Given the description of an element on the screen output the (x, y) to click on. 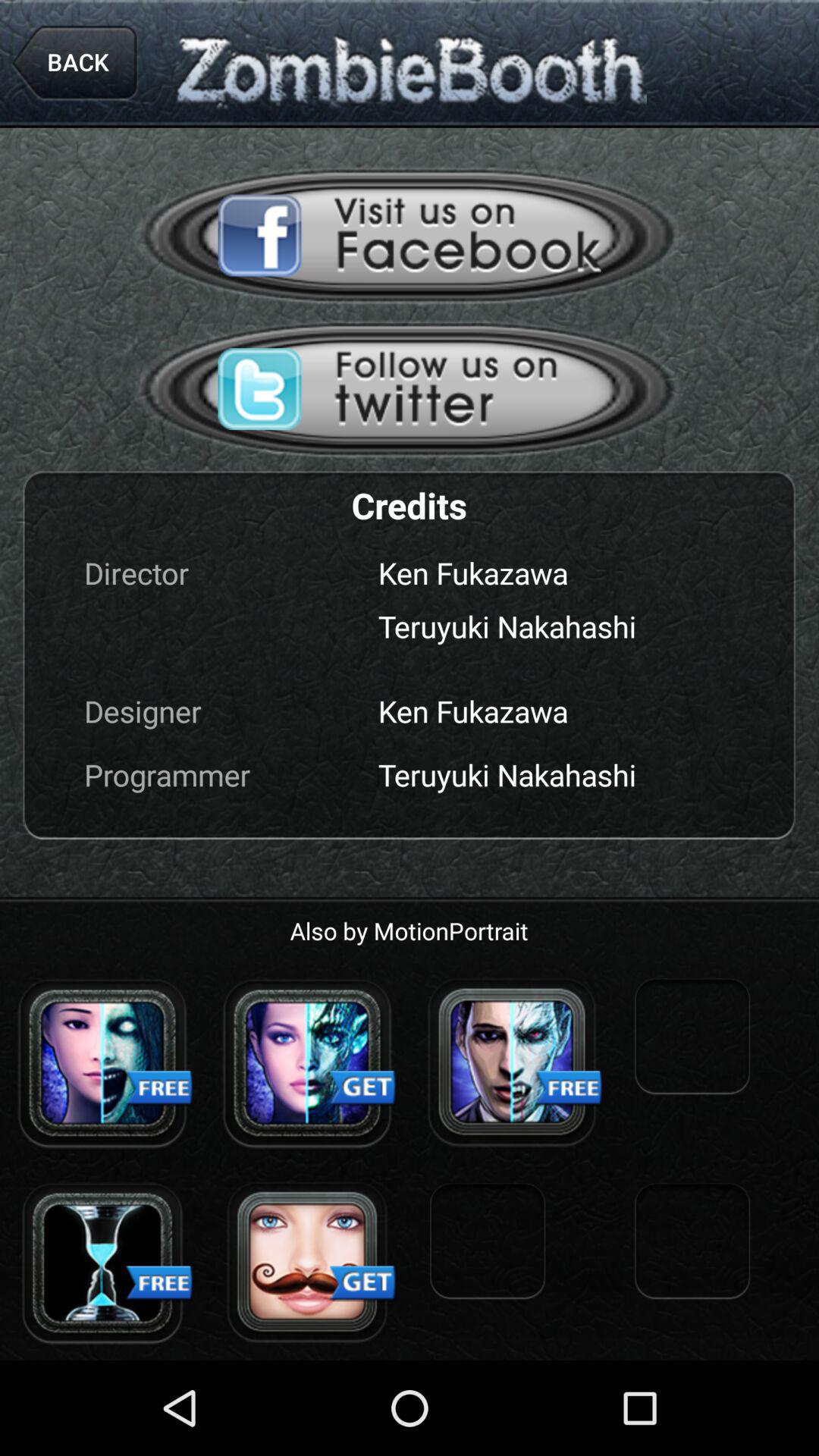
this option advertisement (409, 388)
